Given the description of an element on the screen output the (x, y) to click on. 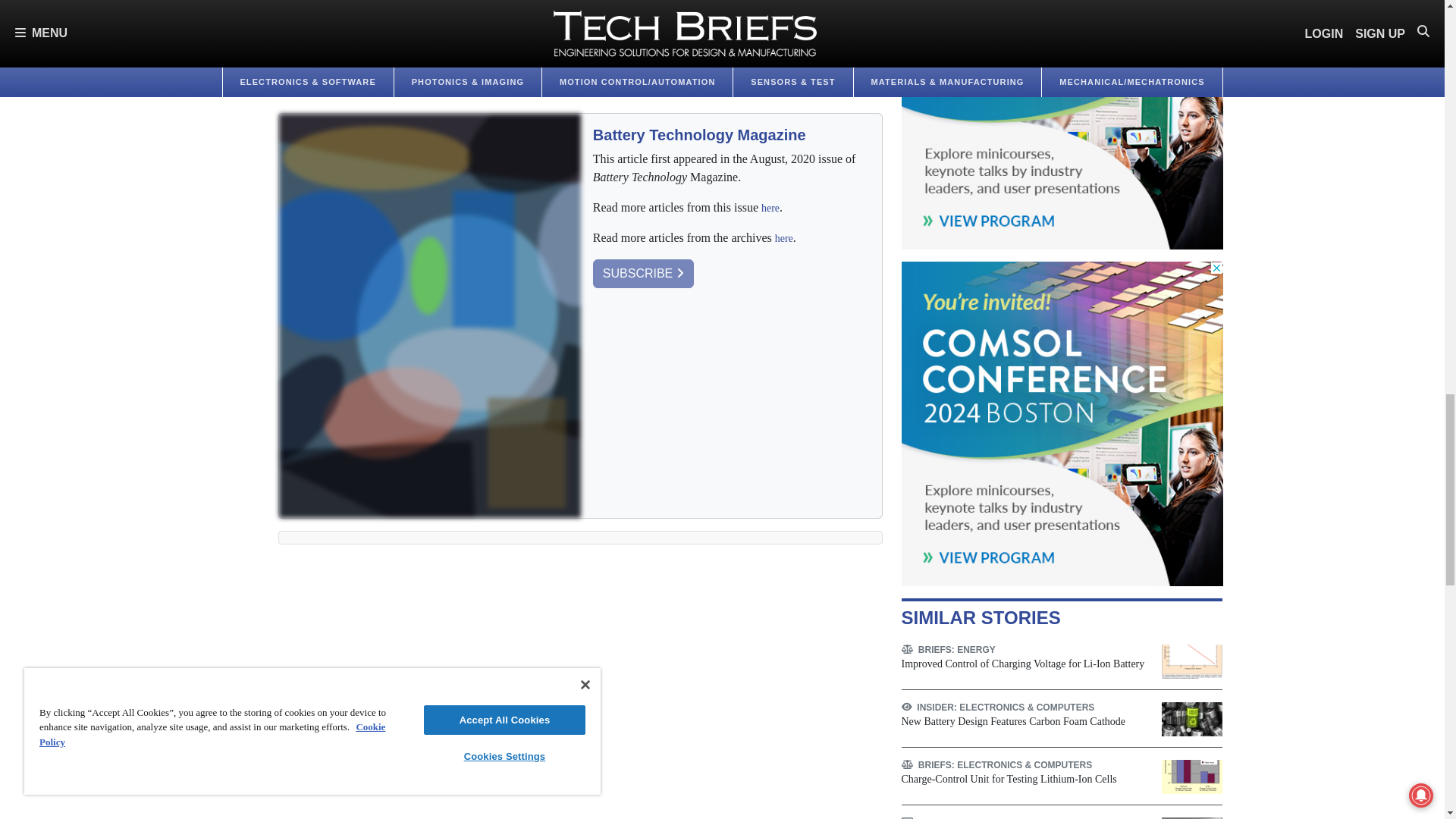
3rd party ad content (1062, 423)
3rd party ad content (1062, 124)
